Given the description of an element on the screen output the (x, y) to click on. 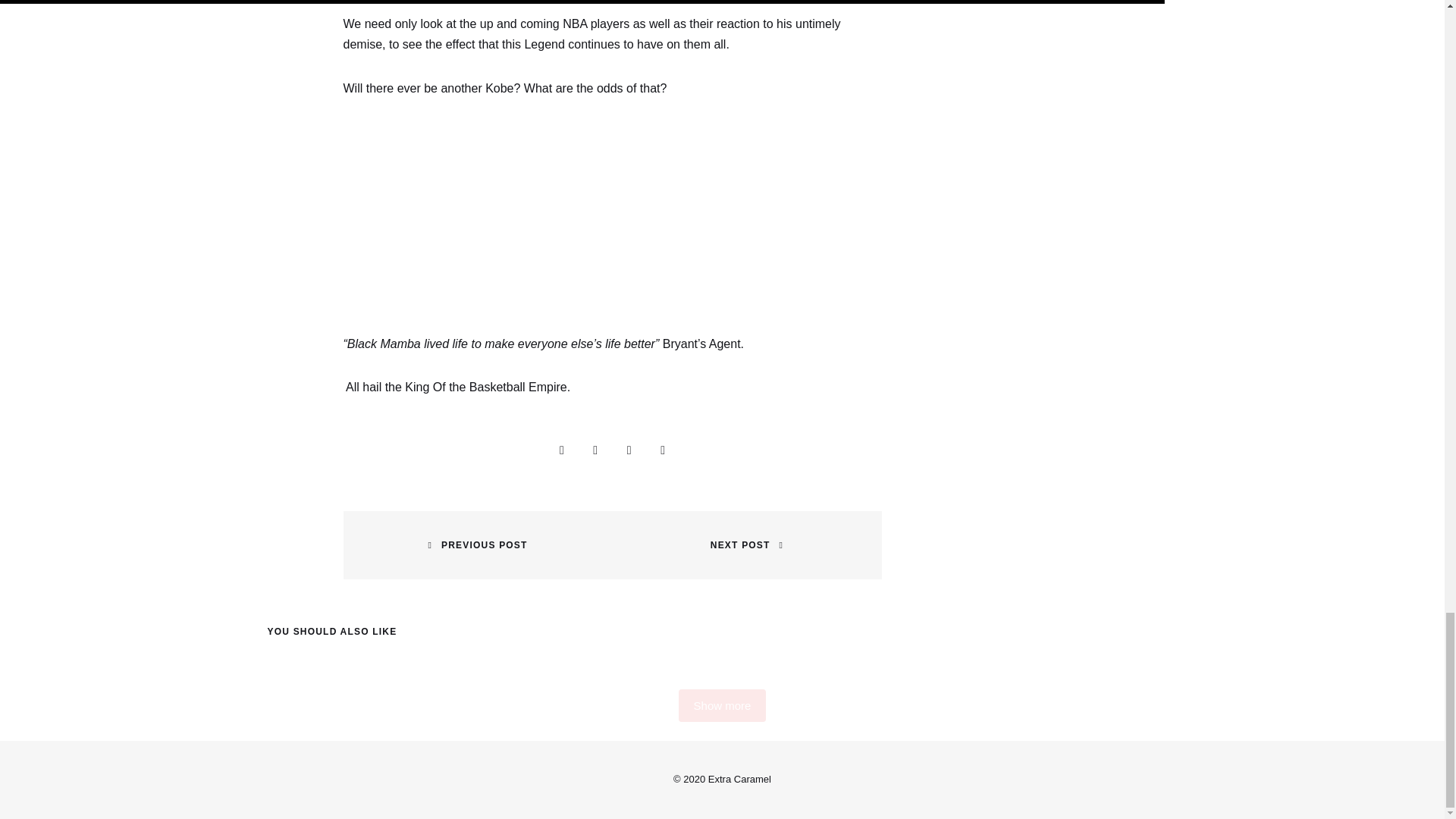
3rd party ad content (612, 216)
Facebook (594, 450)
Twitter (629, 450)
Pinterest (662, 450)
